Given the description of an element on the screen output the (x, y) to click on. 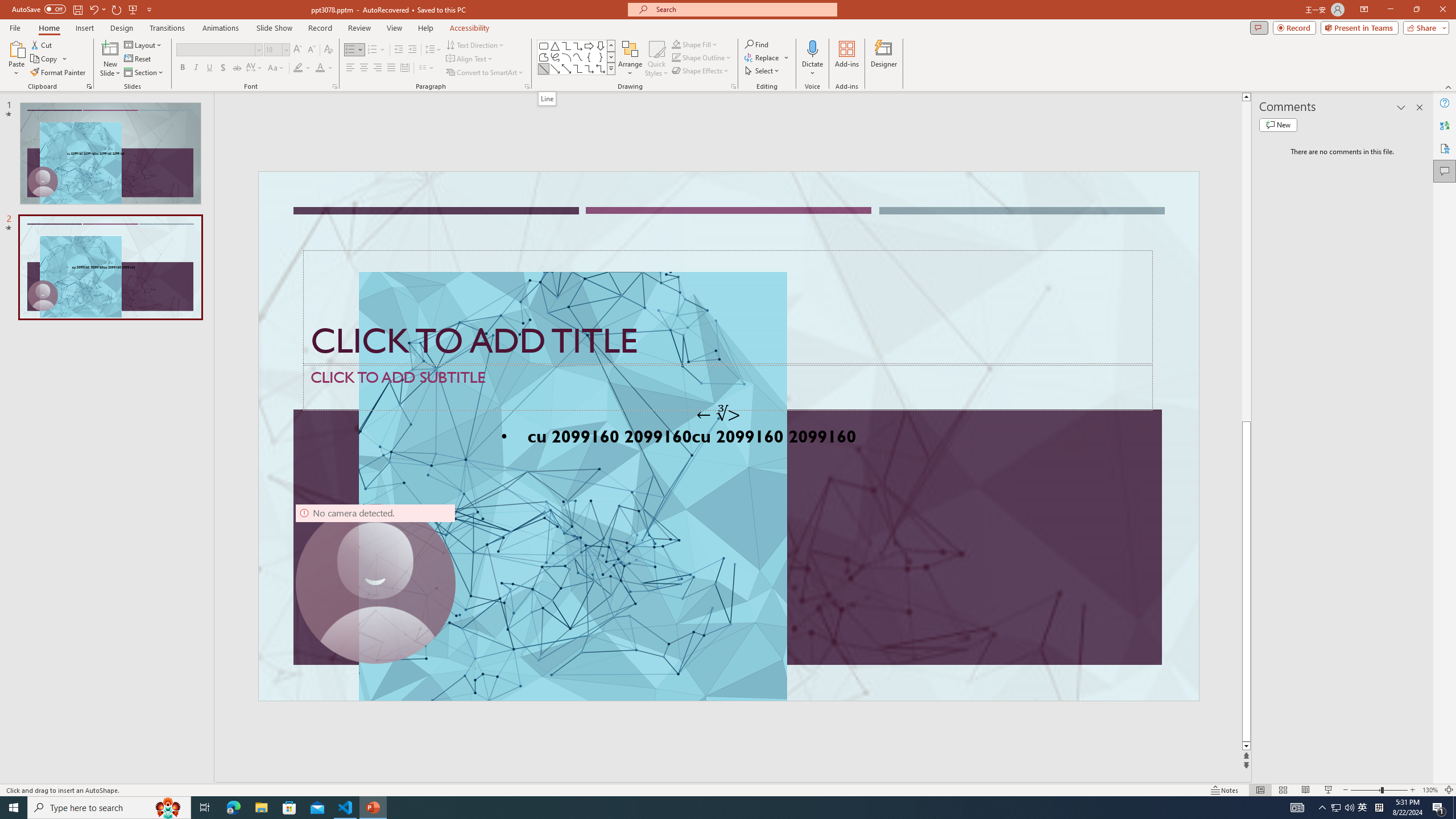
Terminal (Ctrl+`) (579, 533)
Source Control (Ctrl+Shift+G) (76, 309)
Tab actions (675, 183)
Wang Yian (958, 382)
Microsoft Cashback - US$0.00 (1320, 122)
